Given the description of an element on the screen output the (x, y) to click on. 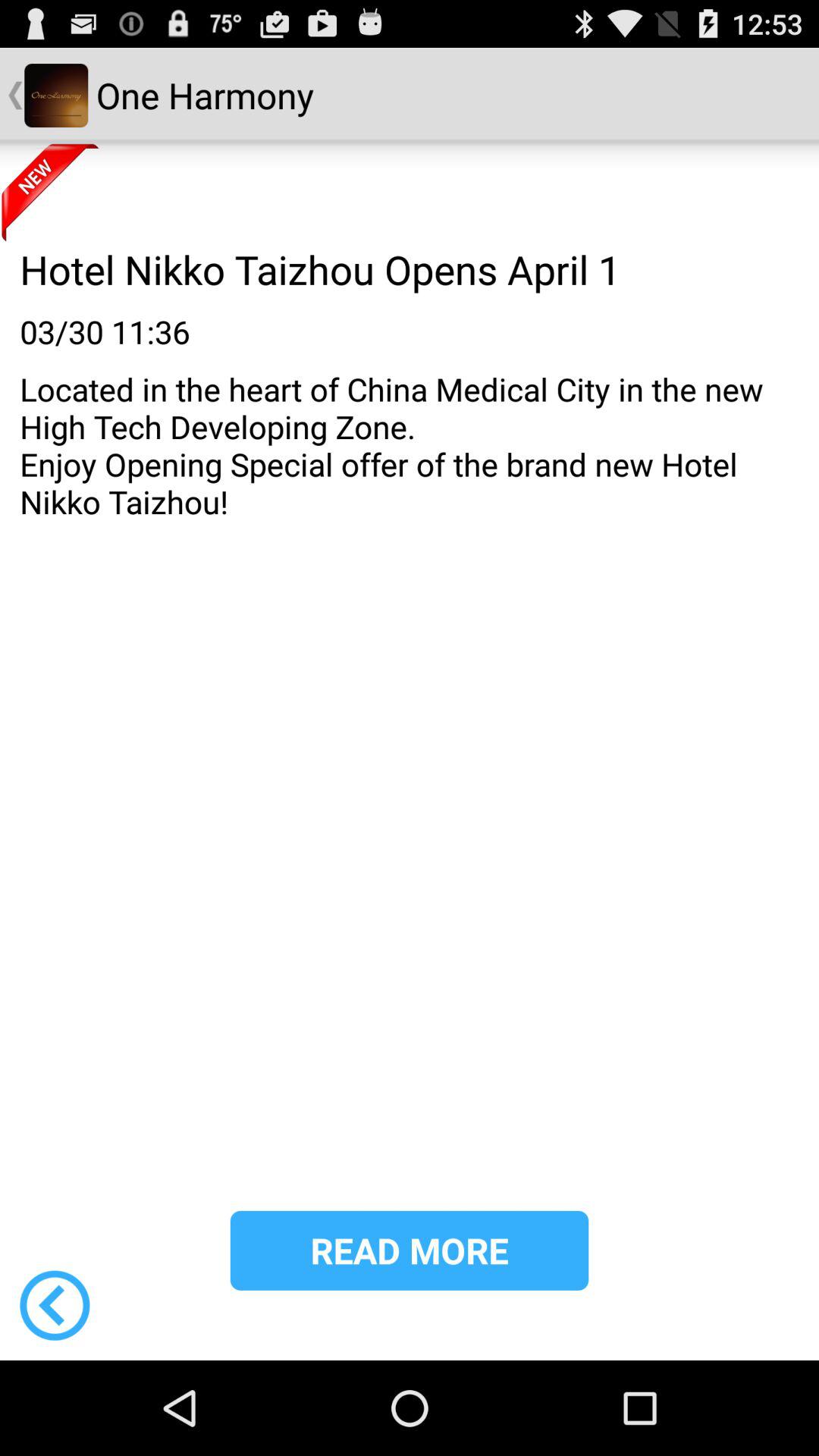
go back (54, 1305)
